Given the description of an element on the screen output the (x, y) to click on. 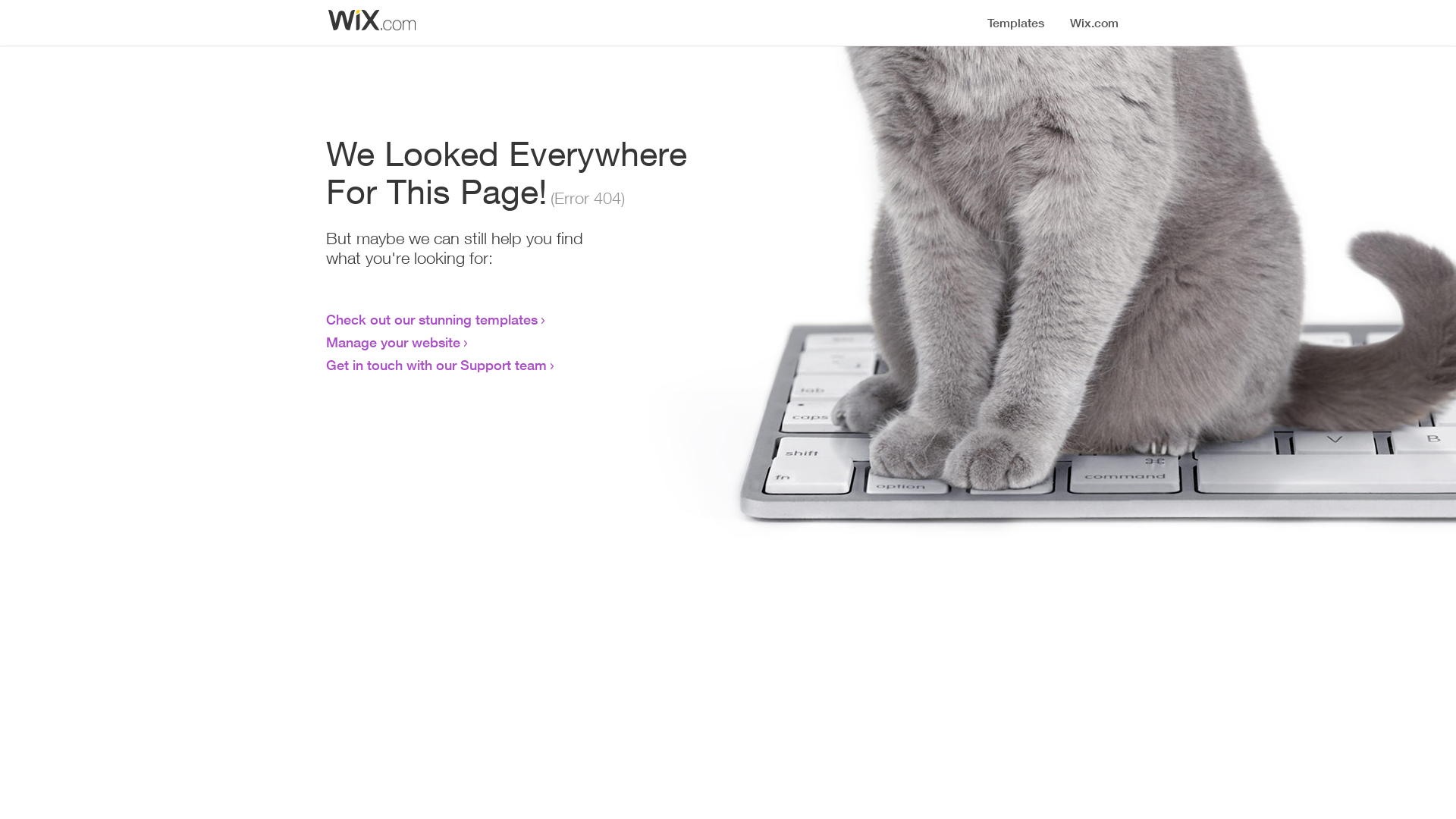
Get in touch with our Support team Element type: text (436, 364)
Check out our stunning templates Element type: text (431, 318)
Manage your website Element type: text (393, 341)
